Given the description of an element on the screen output the (x, y) to click on. 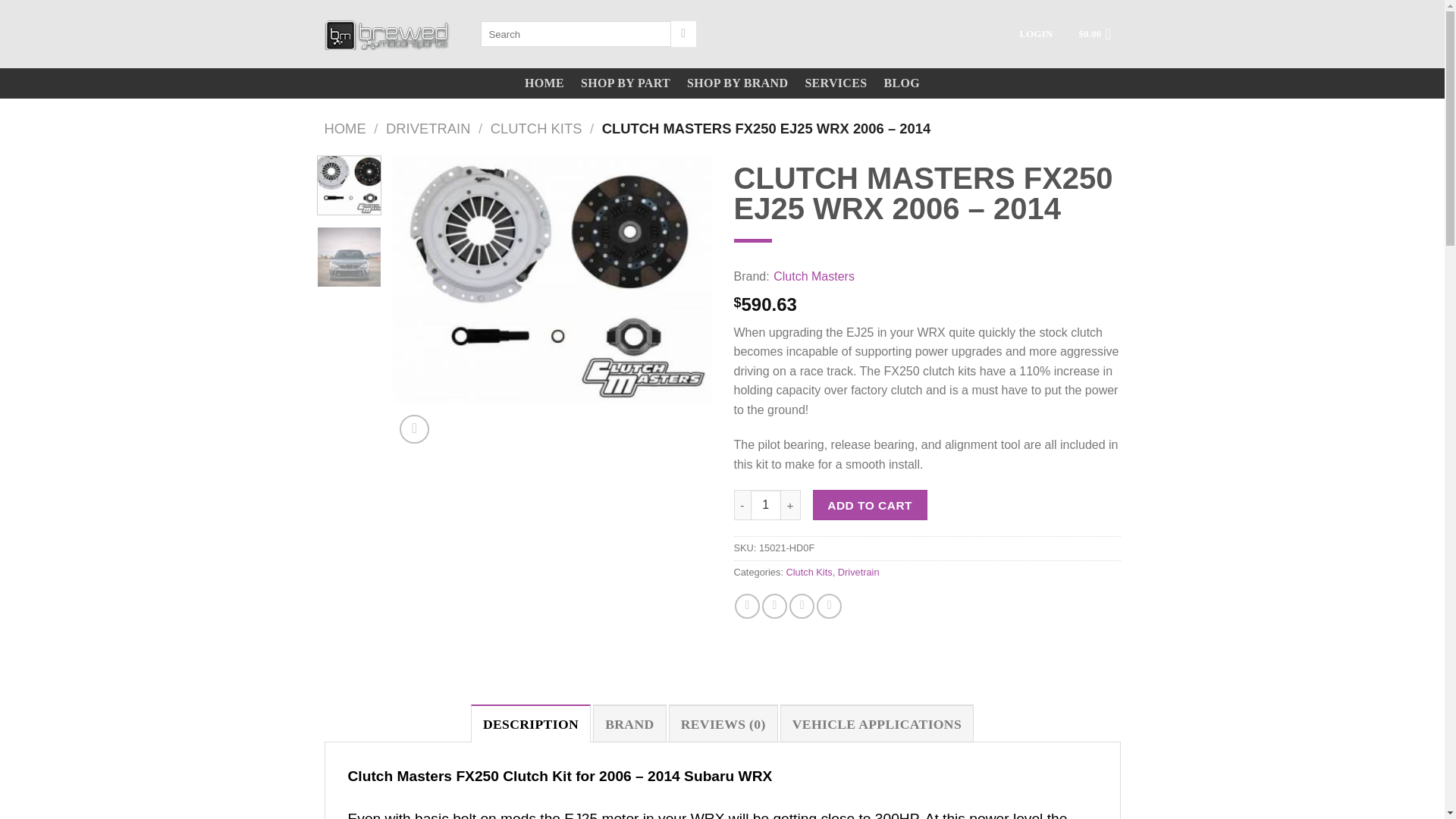
HOME (345, 128)
Login (1035, 33)
Search (683, 33)
Pin on Pinterest (828, 606)
LOGIN (1035, 33)
BLOG (901, 82)
Zoom (413, 429)
DRIVETRAIN (427, 128)
HOME (544, 82)
View brand (813, 276)
SHOP BY BRAND (737, 82)
SERVICES (835, 82)
Share on Twitter (774, 606)
SHOP BY PART (624, 82)
Email to a Friend (801, 606)
